Given the description of an element on the screen output the (x, y) to click on. 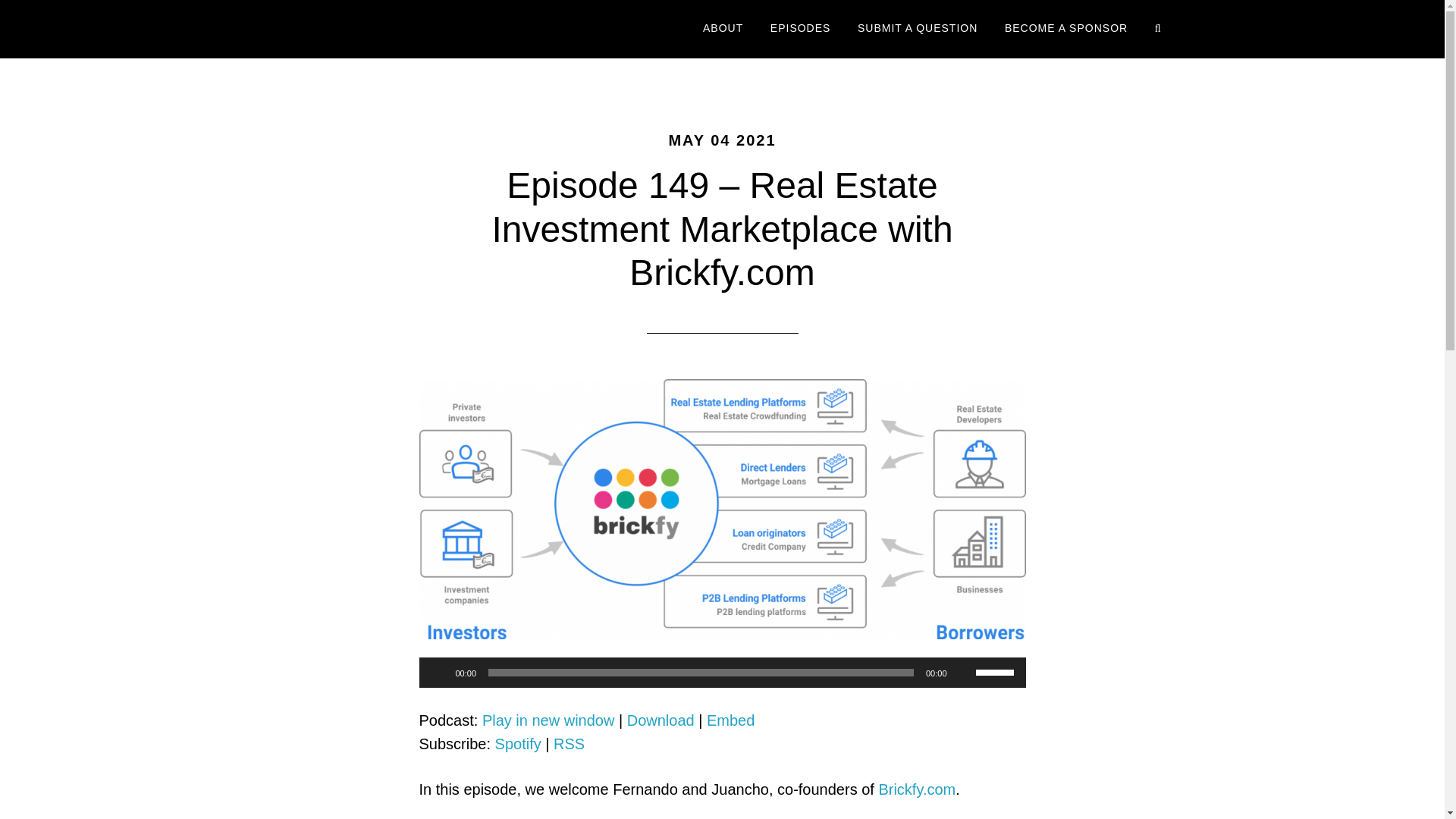
Embed (730, 719)
Spotify (518, 743)
ABOUT (722, 28)
Play in new window (547, 719)
BECOME A SPONSOR (1065, 28)
Play in new window (547, 719)
Play (437, 672)
RSS (569, 743)
MASTERMIND.FM (403, 28)
Subscribe on Spotify (518, 743)
SEARCH (1159, 29)
Download (660, 719)
EPISODES (800, 28)
Download (660, 719)
Embed (730, 719)
